Given the description of an element on the screen output the (x, y) to click on. 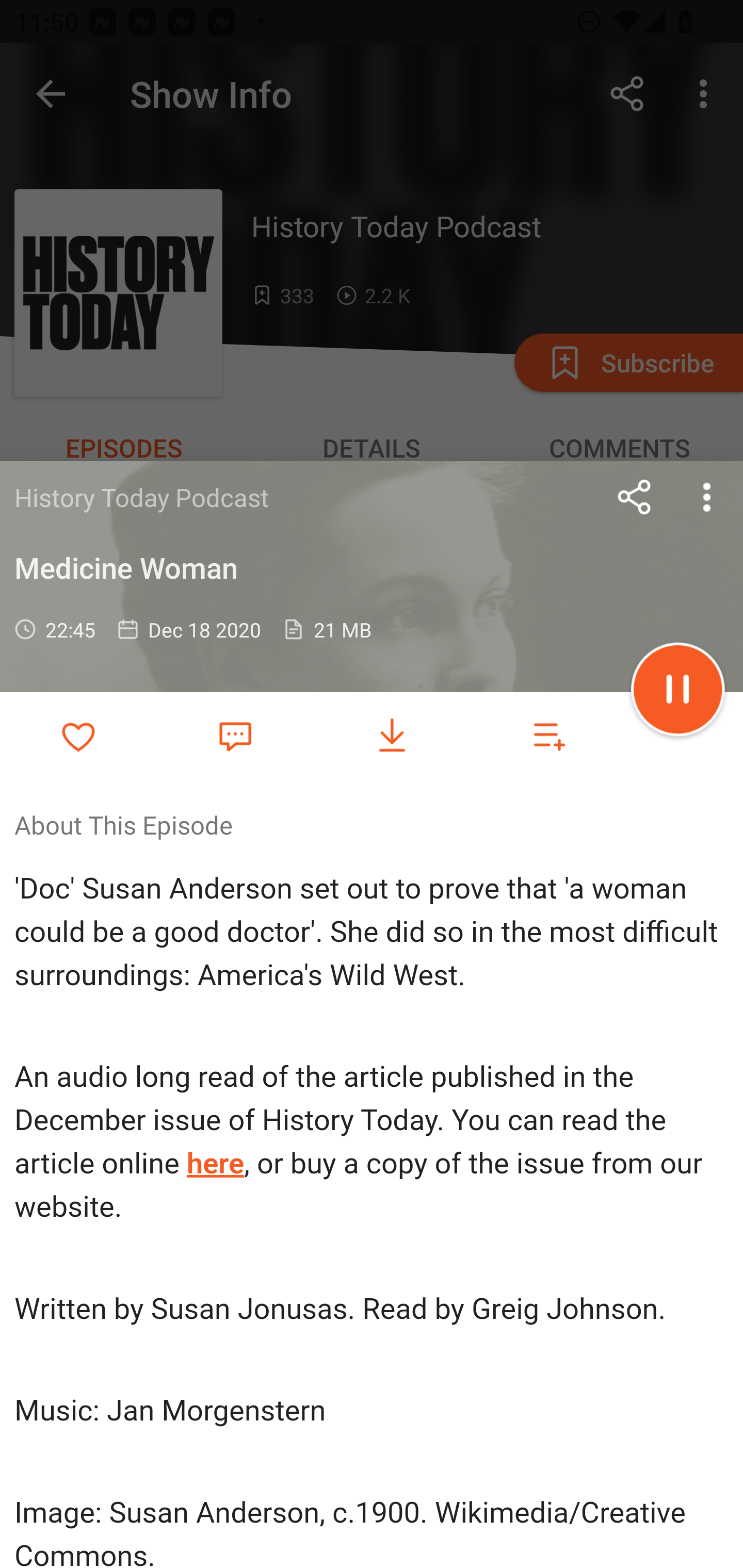
Share (634, 496)
more options (706, 496)
Pause (677, 692)
Favorite (234, 735)
Add to Favorites (78, 735)
Download (391, 735)
Add to playlist (548, 735)
here (215, 1163)
